Given the description of an element on the screen output the (x, y) to click on. 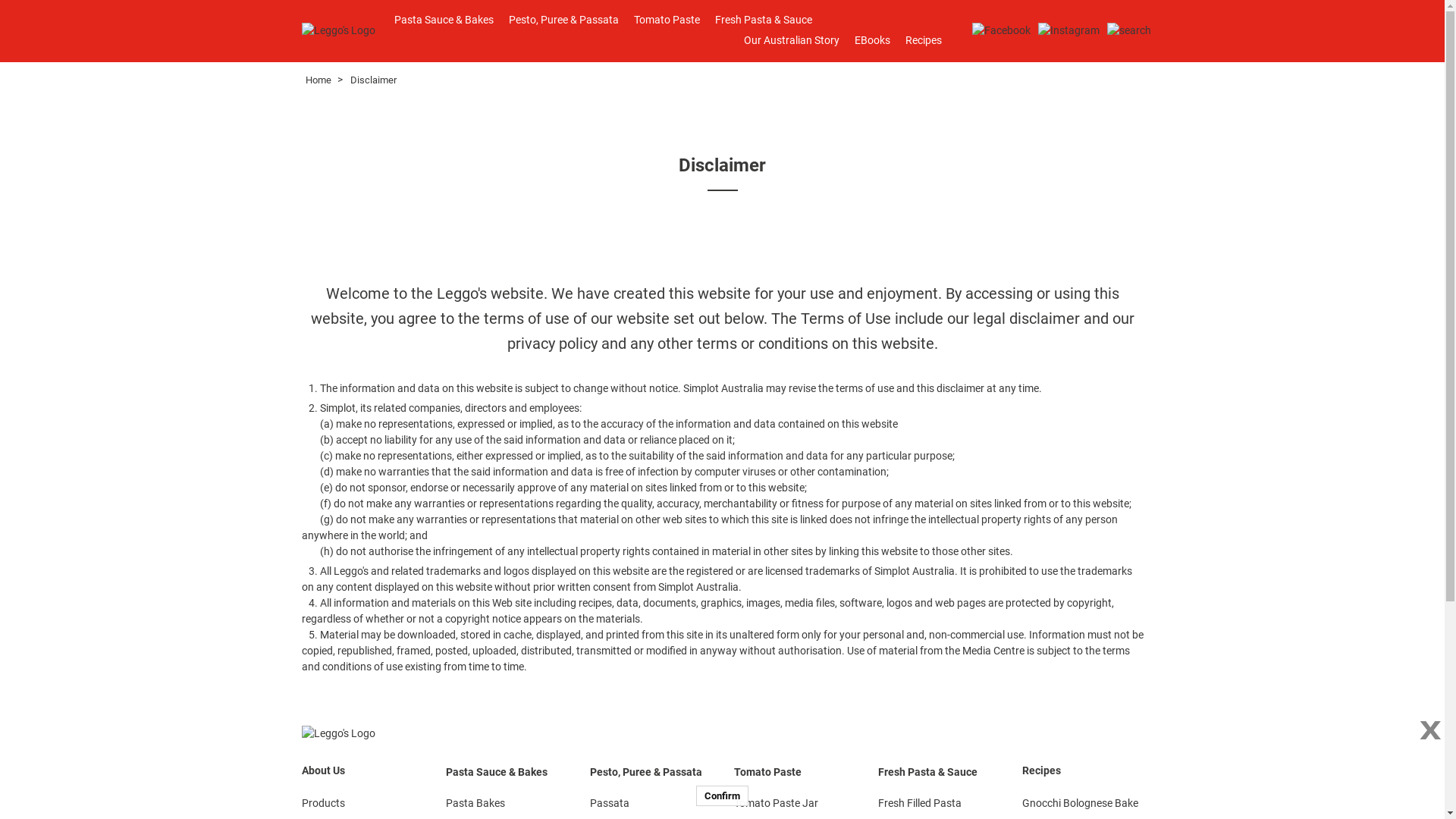
Tomato Paste Element type: text (665, 19)
Brand Element type: hover (338, 29)
Pesto, Puree & Passata Element type: text (563, 19)
Recipes Element type: text (922, 40)
Fresh Filled Pasta Element type: text (938, 803)
Fresh Pasta & Sauce Element type: text (938, 772)
 Our Australian Story Element type: text (789, 40)
Pasta Bakes Element type: text (506, 803)
Home Element type: text (317, 79)
Pesto, Puree & Passata Element type: text (650, 772)
Tomato Paste Jar Element type: text (794, 803)
Pasta Sauce & Bakes Element type: text (506, 772)
Pasta Sauce & Bakes Element type: text (442, 19)
Tomato Paste Element type: text (794, 772)
Confirm Element type: text (722, 795)
Products Element type: text (323, 803)
Passata Element type: text (650, 803)
Gnocchi Bolognese Bake Element type: text (1080, 803)
X Element type: text (1427, 731)
Brand Element type: hover (338, 732)
Fresh Pasta & Sauce Element type: text (763, 19)
Disclaimer Element type: text (373, 79)
EBooks Element type: text (872, 40)
